Given the description of an element on the screen output the (x, y) to click on. 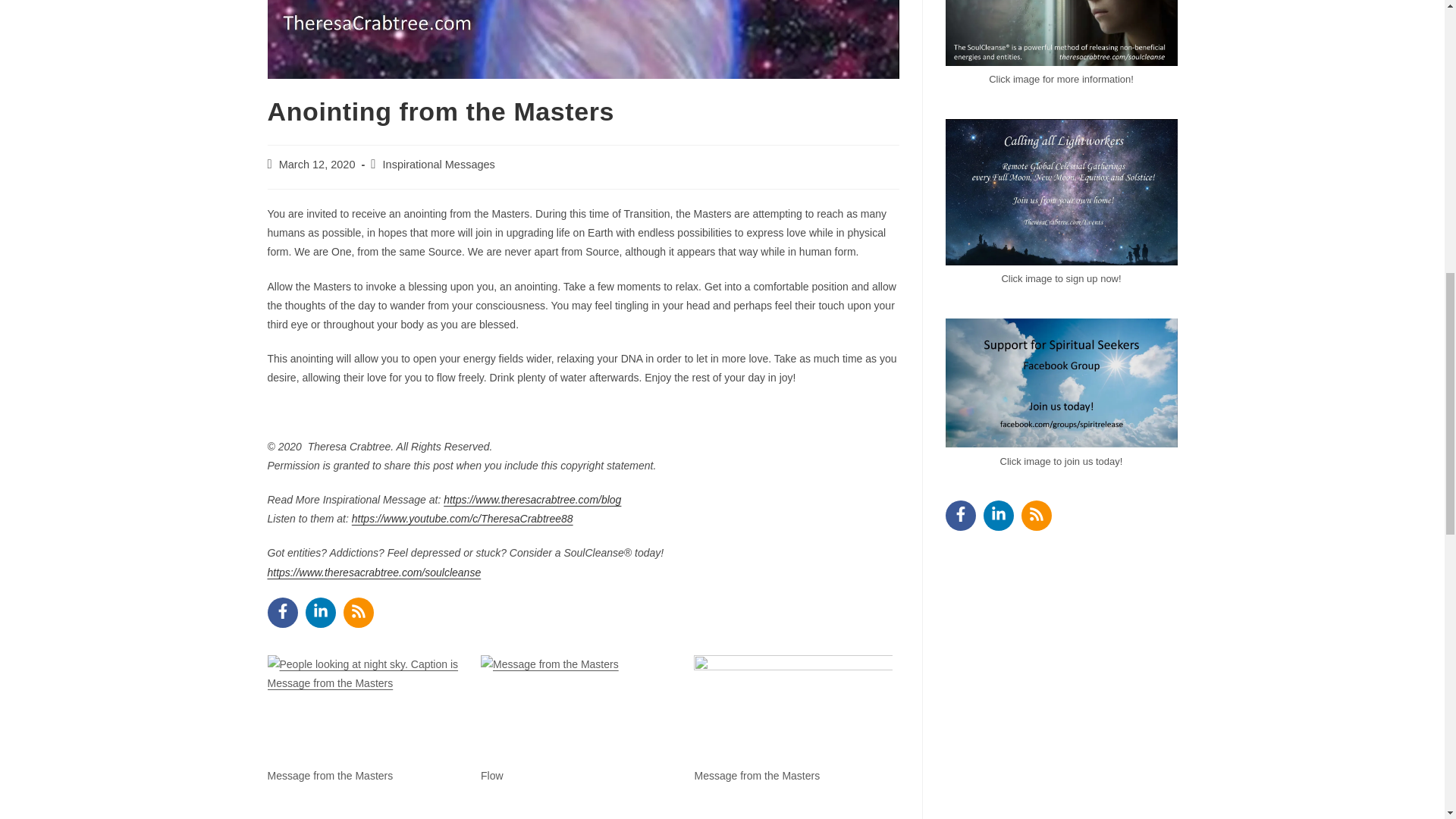
Message from the Masters (329, 775)
Flow (491, 775)
Inspirational Messages (438, 164)
Message from the Masters (329, 775)
Flow (579, 711)
Message from the Masters (792, 711)
Message from the Masters (756, 775)
Message from the Masters (365, 711)
Flow (491, 775)
Message from the Masters (756, 775)
